Given the description of an element on the screen output the (x, y) to click on. 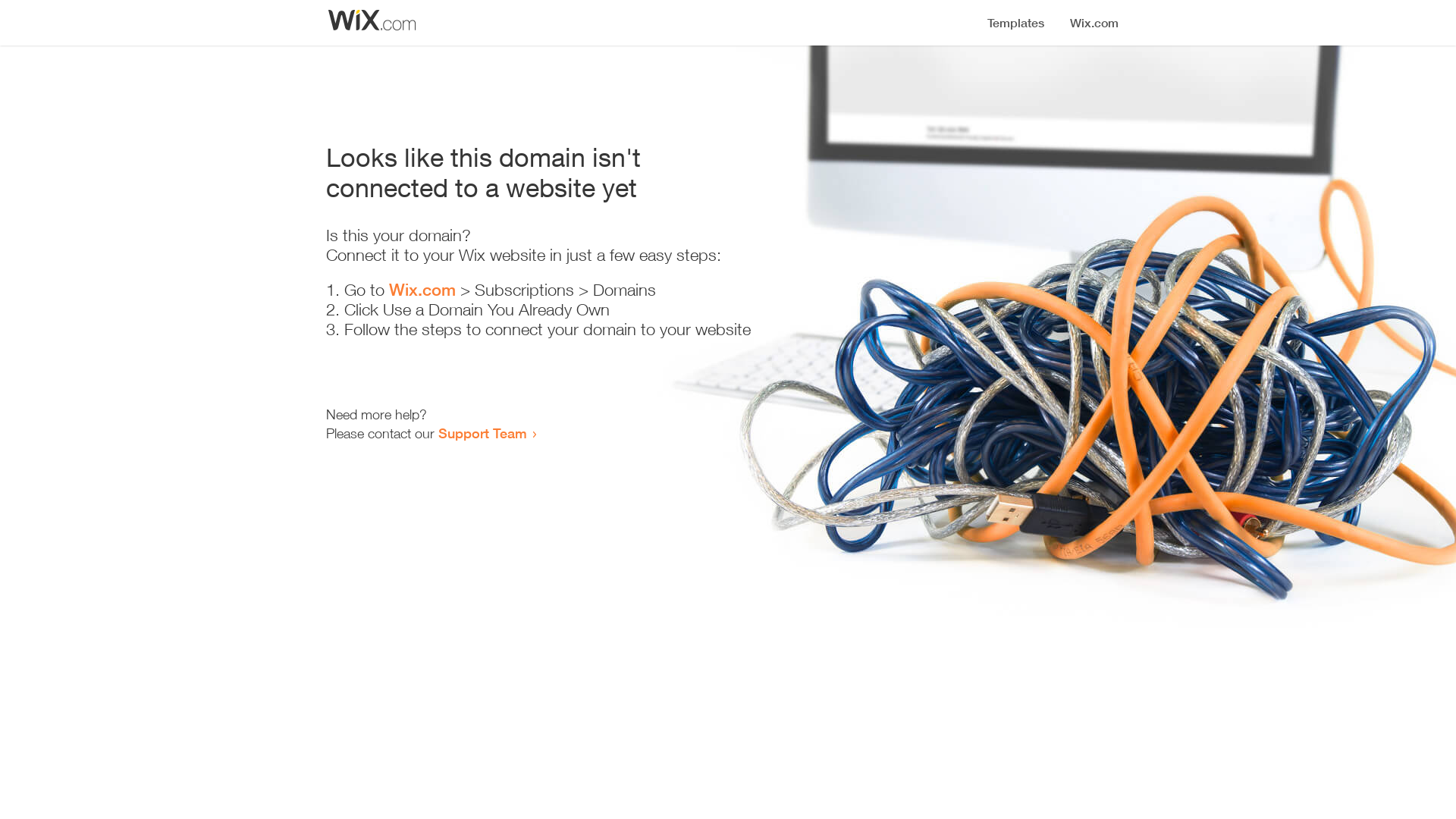
Support Team Element type: text (482, 432)
Wix.com Element type: text (422, 289)
